Given the description of an element on the screen output the (x, y) to click on. 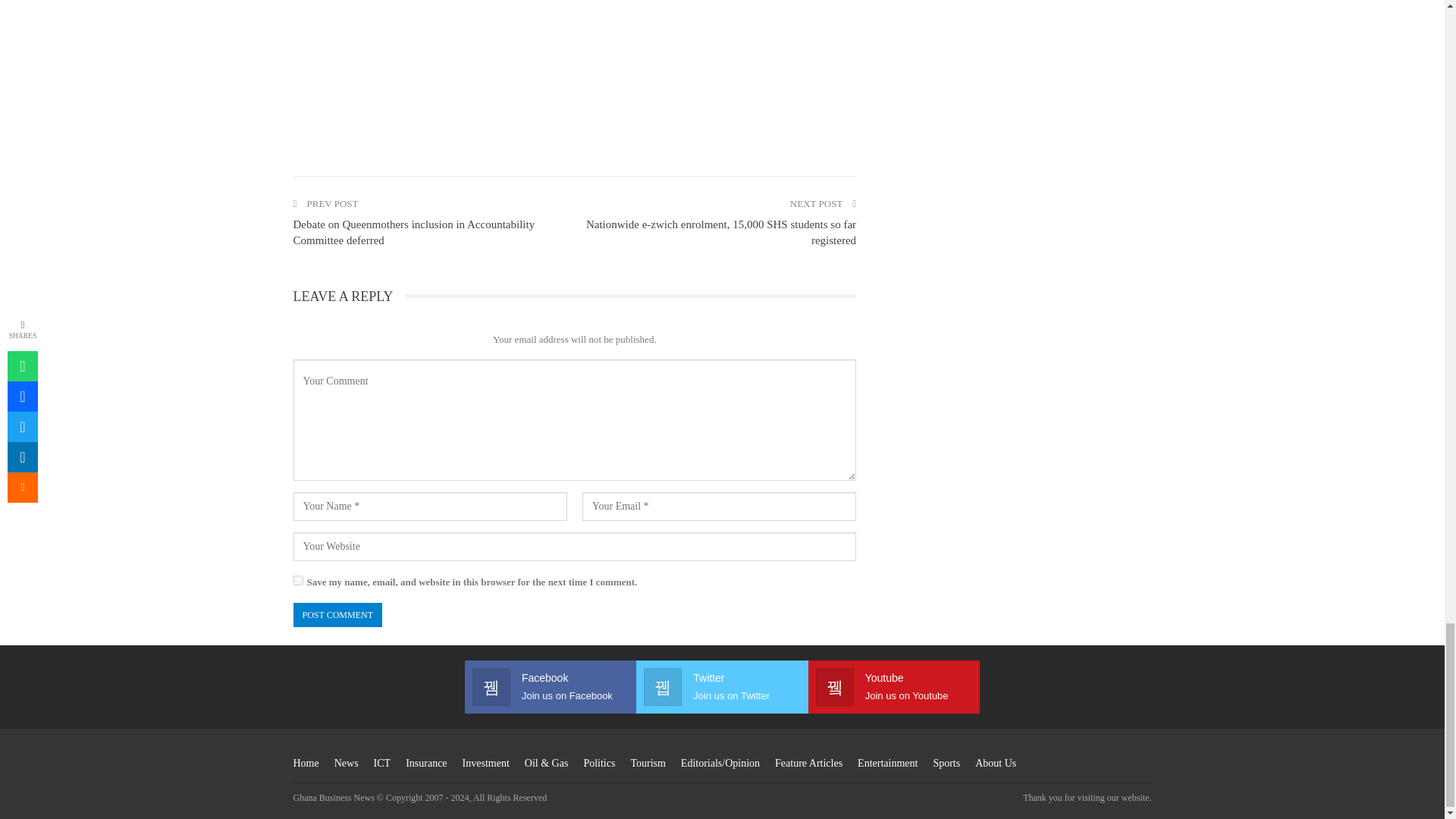
yes (297, 580)
Post Comment (336, 615)
